Given the description of an element on the screen output the (x, y) to click on. 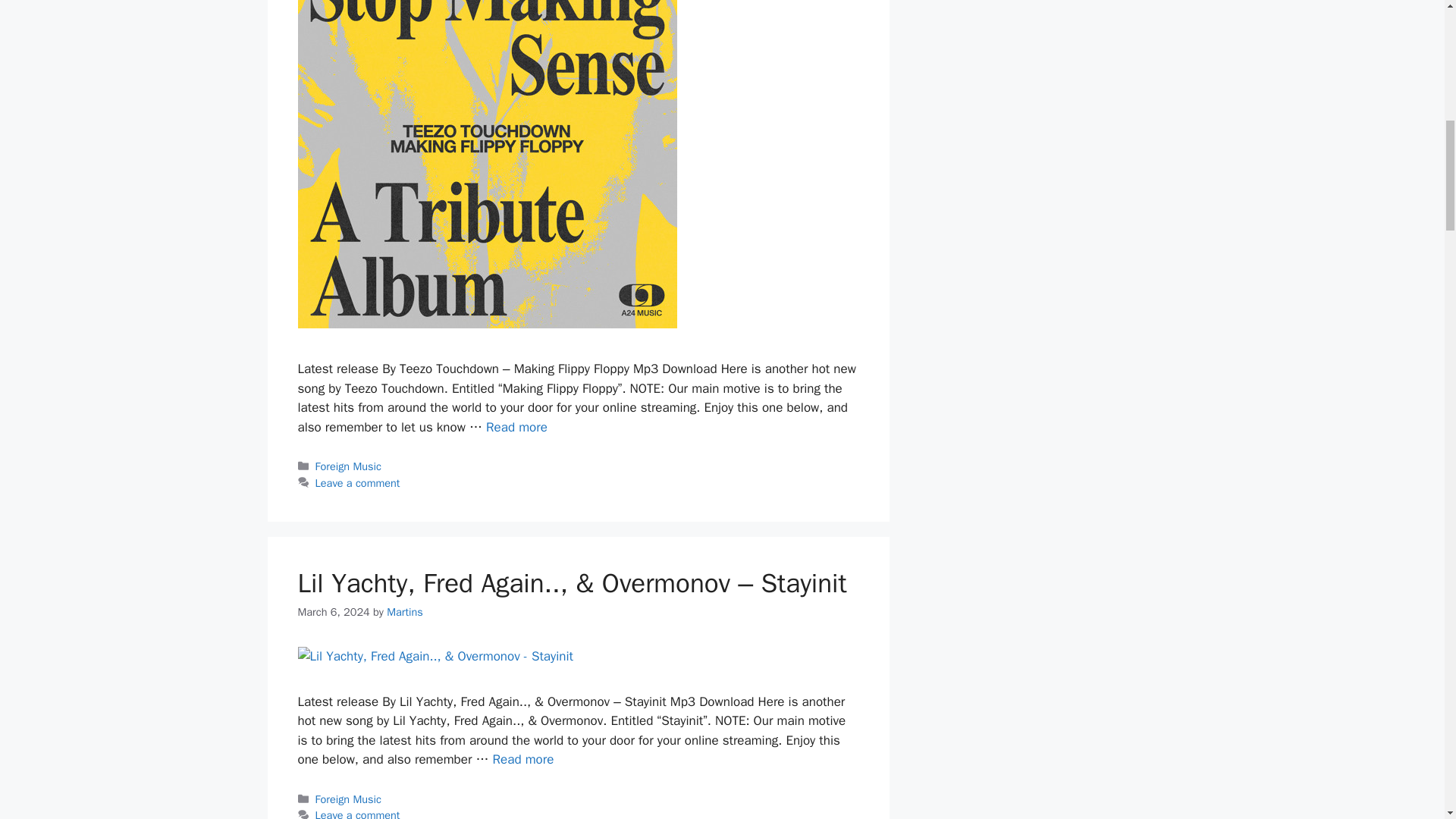
Leave a comment (357, 813)
Read more (516, 426)
Read more (523, 759)
View all posts by Martins (405, 612)
Martins (405, 612)
Foreign Music (348, 466)
Foreign Music (348, 798)
Leave a comment (357, 482)
